Given the description of an element on the screen output the (x, y) to click on. 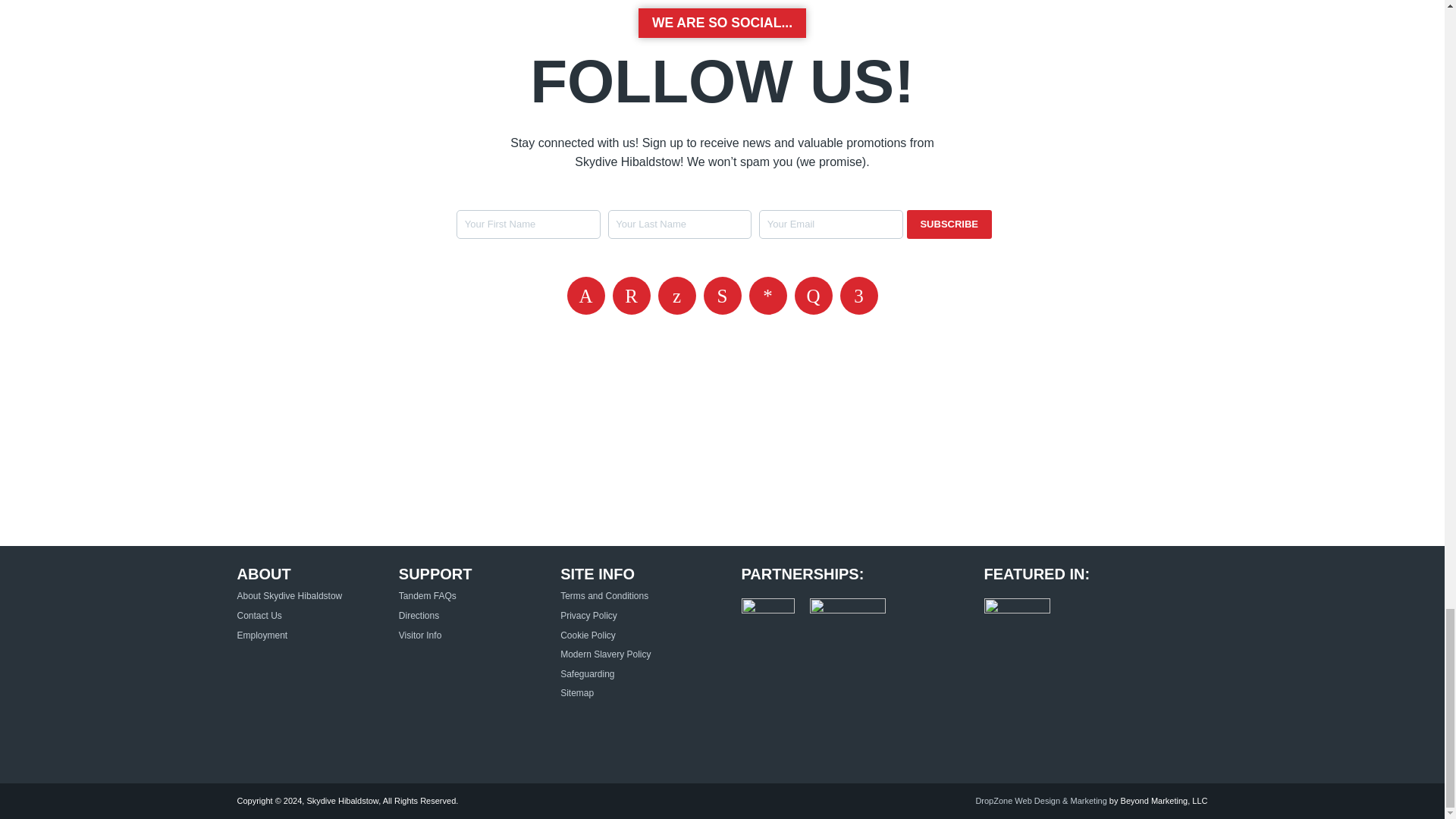
Sport England (847, 613)
Subscribe (949, 224)
